Given the description of an element on the screen output the (x, y) to click on. 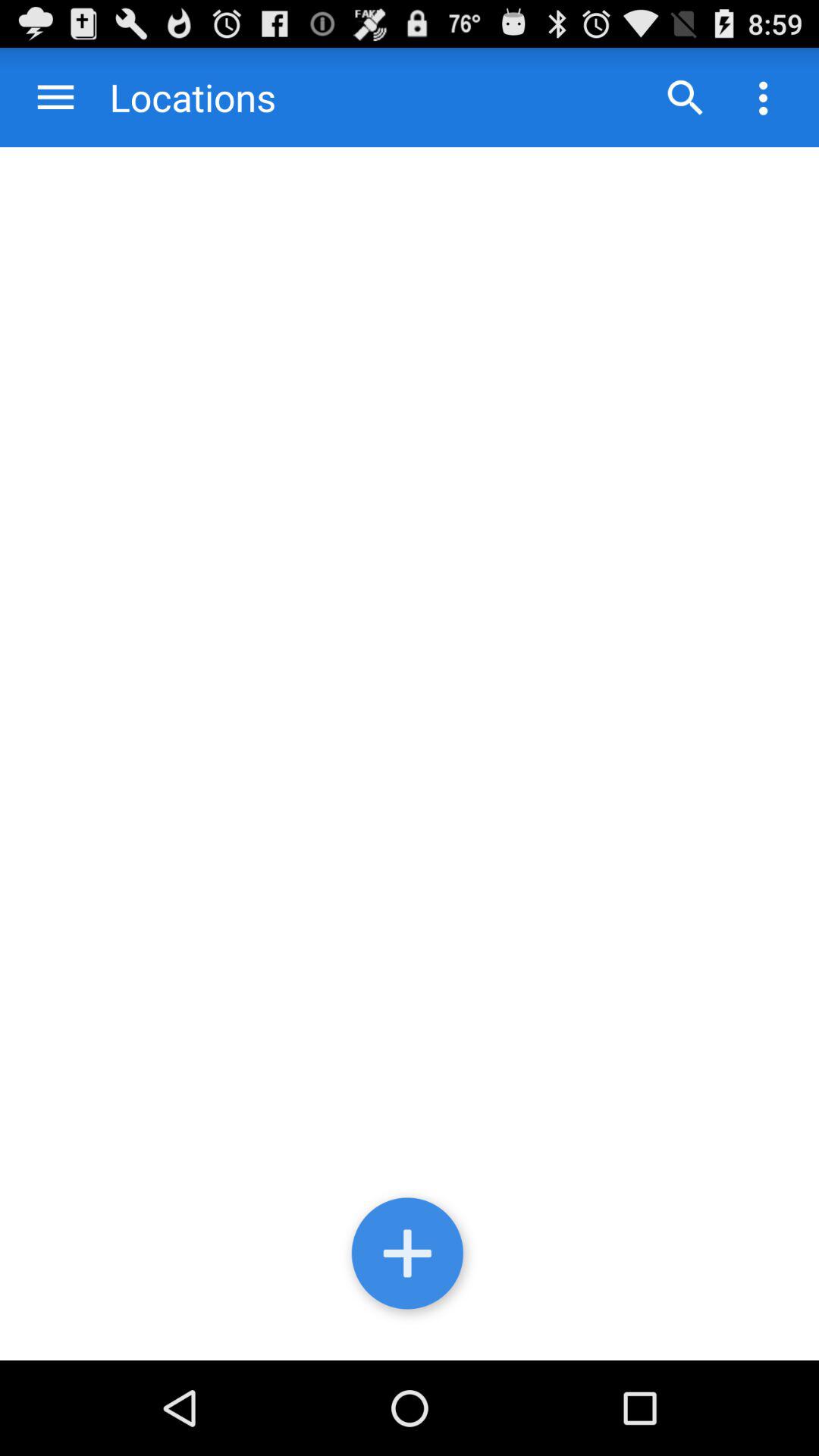
go to menu (55, 97)
